Given the description of an element on the screen output the (x, y) to click on. 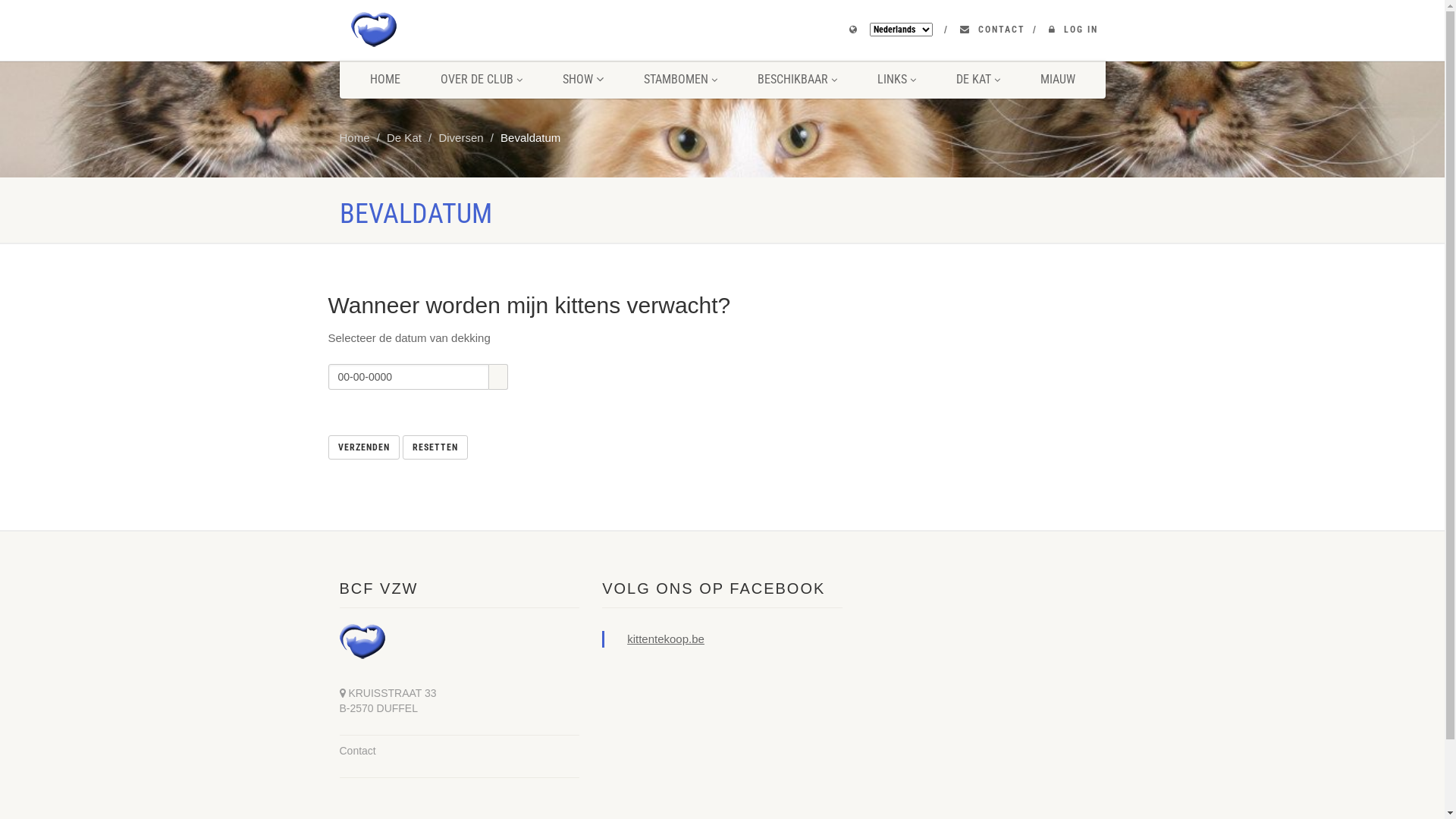
DE KAT Element type: text (978, 79)
LINKS Element type: text (896, 79)
Contact Element type: text (357, 750)
STAMBOMEN Element type: text (680, 79)
LOG IN Element type: text (1080, 29)
SHOW Element type: text (581, 79)
BESCHIKBAAR Element type: text (797, 79)
De Kat Element type: text (403, 137)
CONTACT Element type: text (1001, 29)
HOME Element type: text (384, 79)
Verzenden Element type: text (362, 447)
Home Element type: text (354, 137)
kittentekoop.be Element type: text (665, 638)
Diversen Element type: text (460, 137)
OVER DE CLUB Element type: text (481, 79)
MIAUW Element type: text (1056, 79)
